Given the description of an element on the screen output the (x, y) to click on. 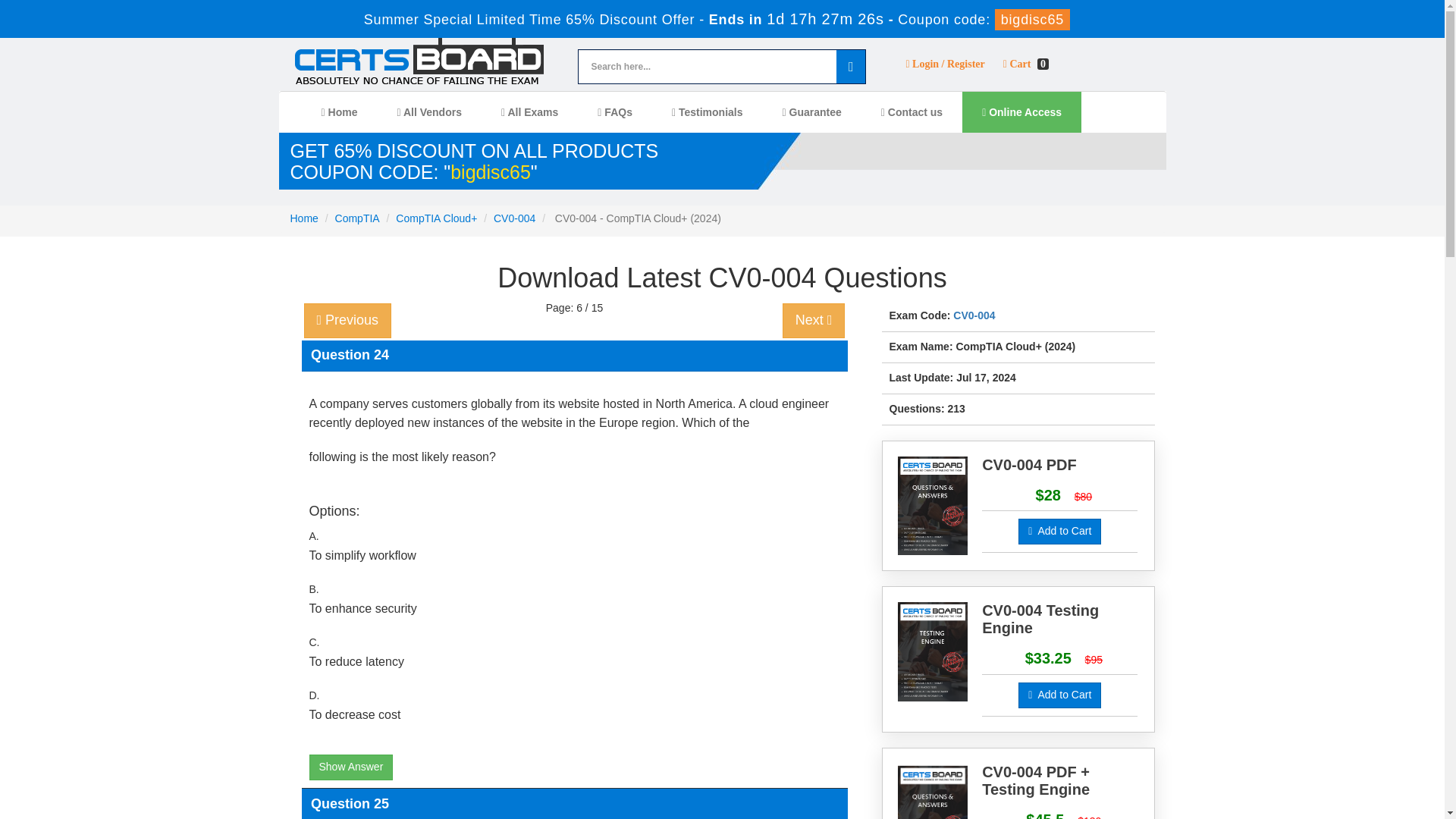
Contact us (911, 111)
Testimonials (707, 111)
Next (814, 320)
FAQs (615, 111)
CV0-004 (514, 218)
Cart 0 (1026, 63)
Online Access (1021, 111)
Home (303, 218)
Guarantee (811, 111)
CV0-004 (973, 315)
All Exams (529, 111)
Previous (346, 320)
CompTIA (357, 218)
Home (339, 111)
All Vendors (429, 111)
